Given the description of an element on the screen output the (x, y) to click on. 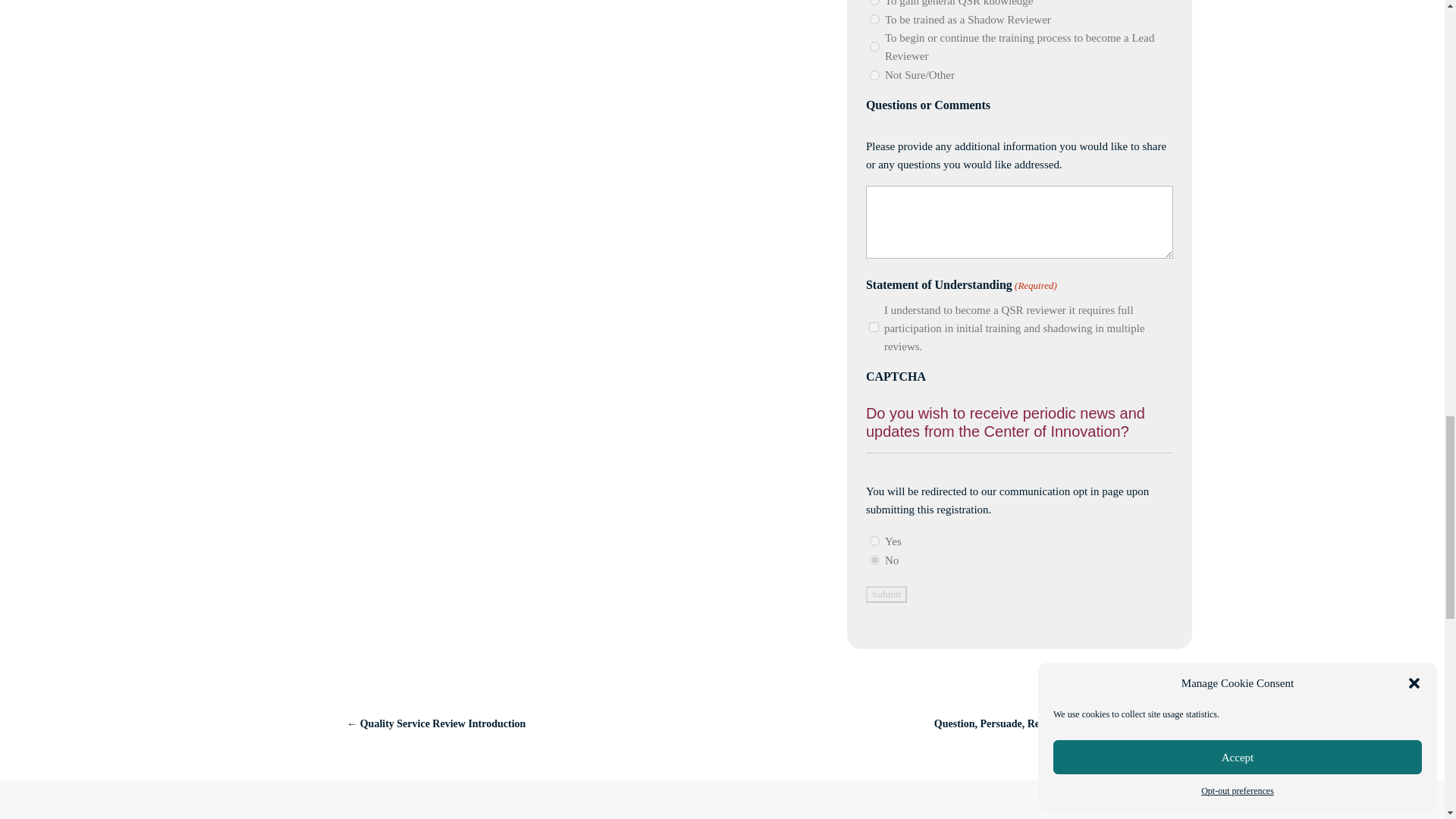
No (874, 560)
To gain general QSR knowledge (874, 2)
Submit (886, 594)
Yes (874, 541)
To be trained as a Shadow Reviewer (874, 19)
